Given the description of an element on the screen output the (x, y) to click on. 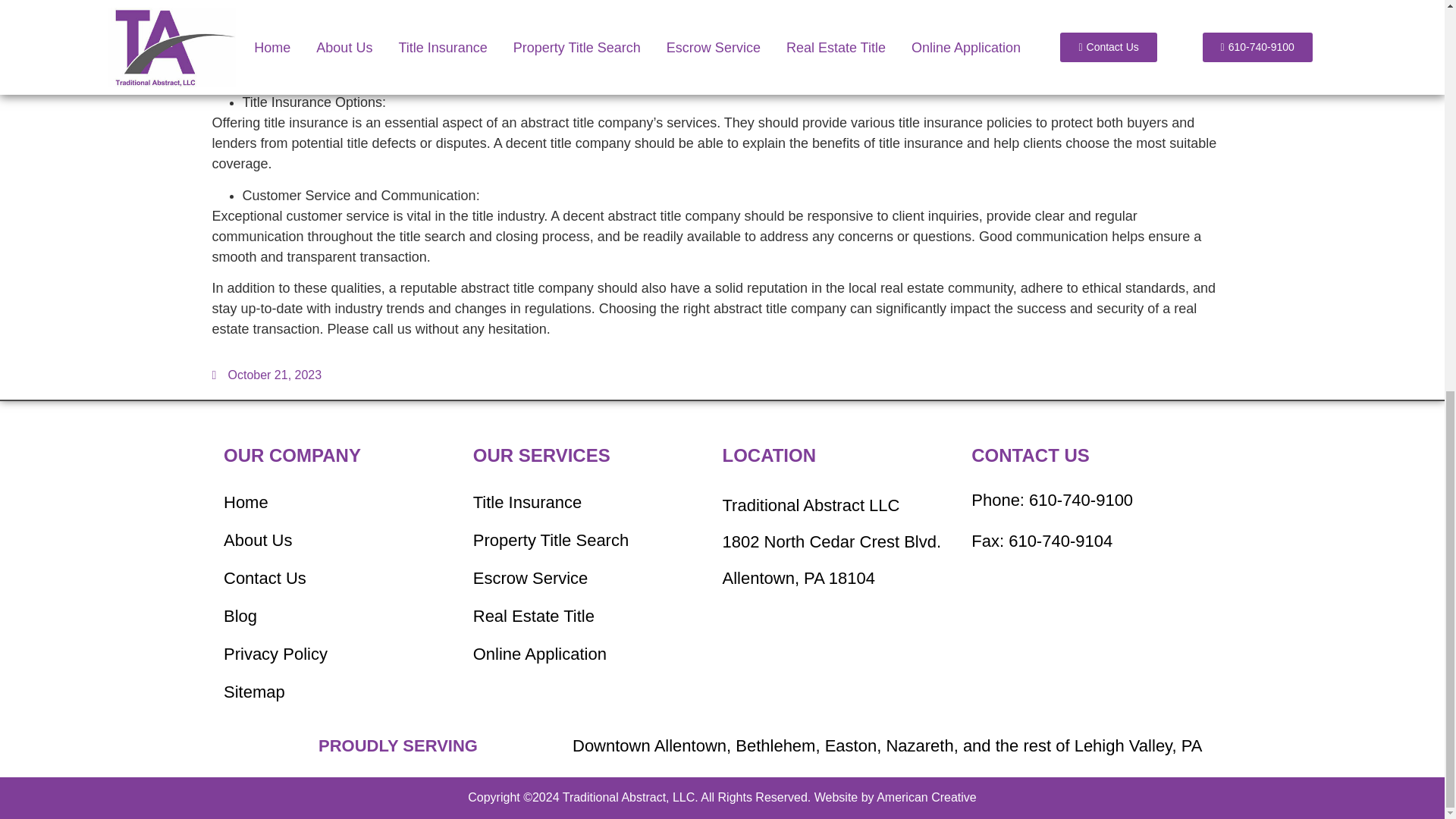
Contact Us (340, 578)
About Us (340, 540)
October 21, 2023 (266, 375)
Website Design SEO Nationwide (926, 797)
Blog (340, 616)
Home (340, 502)
